Given the description of an element on the screen output the (x, y) to click on. 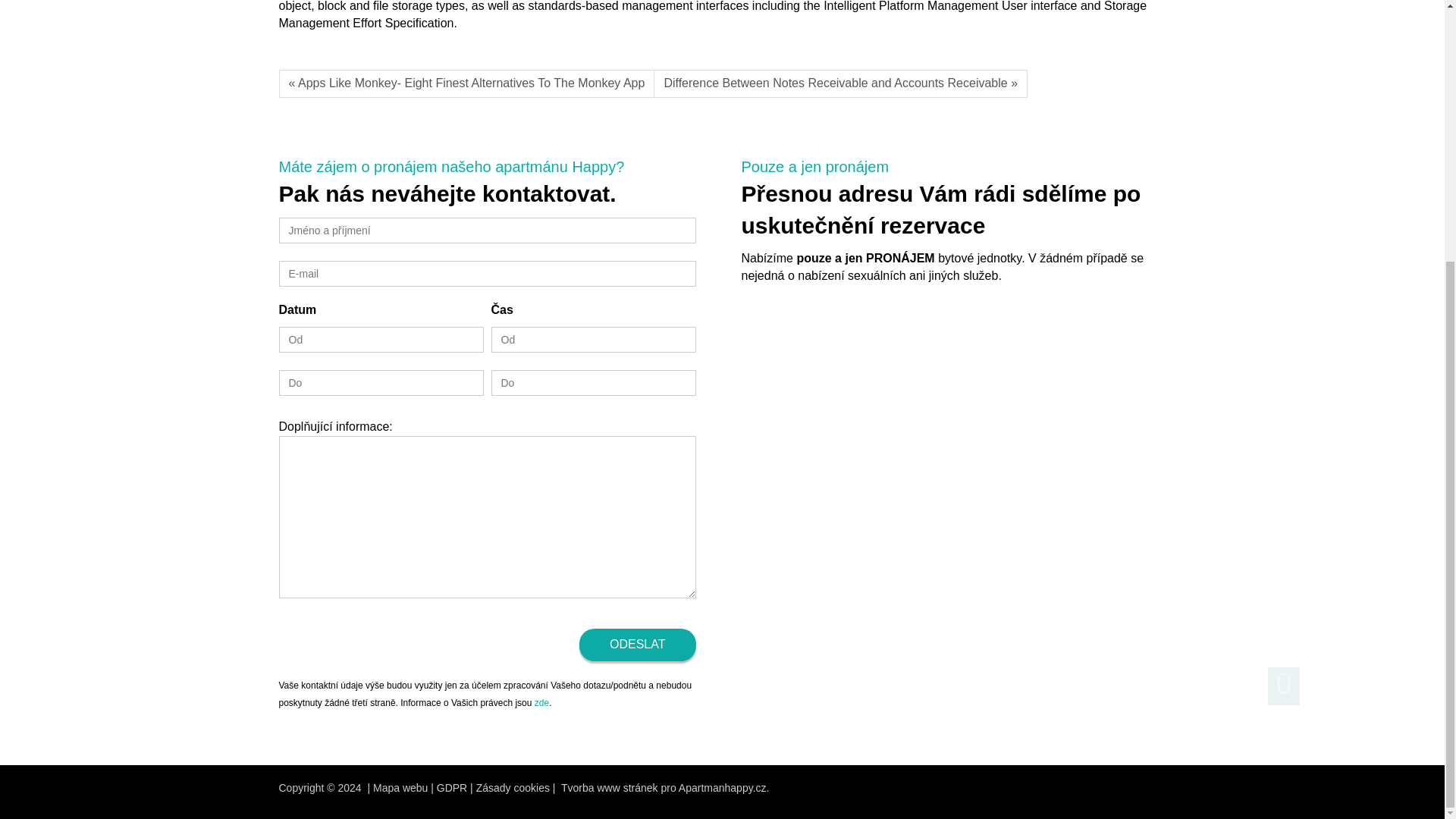
Odeslat (637, 644)
Odeslat (637, 644)
GDPR (451, 787)
Mapa webu (400, 787)
Difference Between Notes Receivable and Accounts Receivable (840, 83)
zde (541, 702)
